Given the description of an element on the screen output the (x, y) to click on. 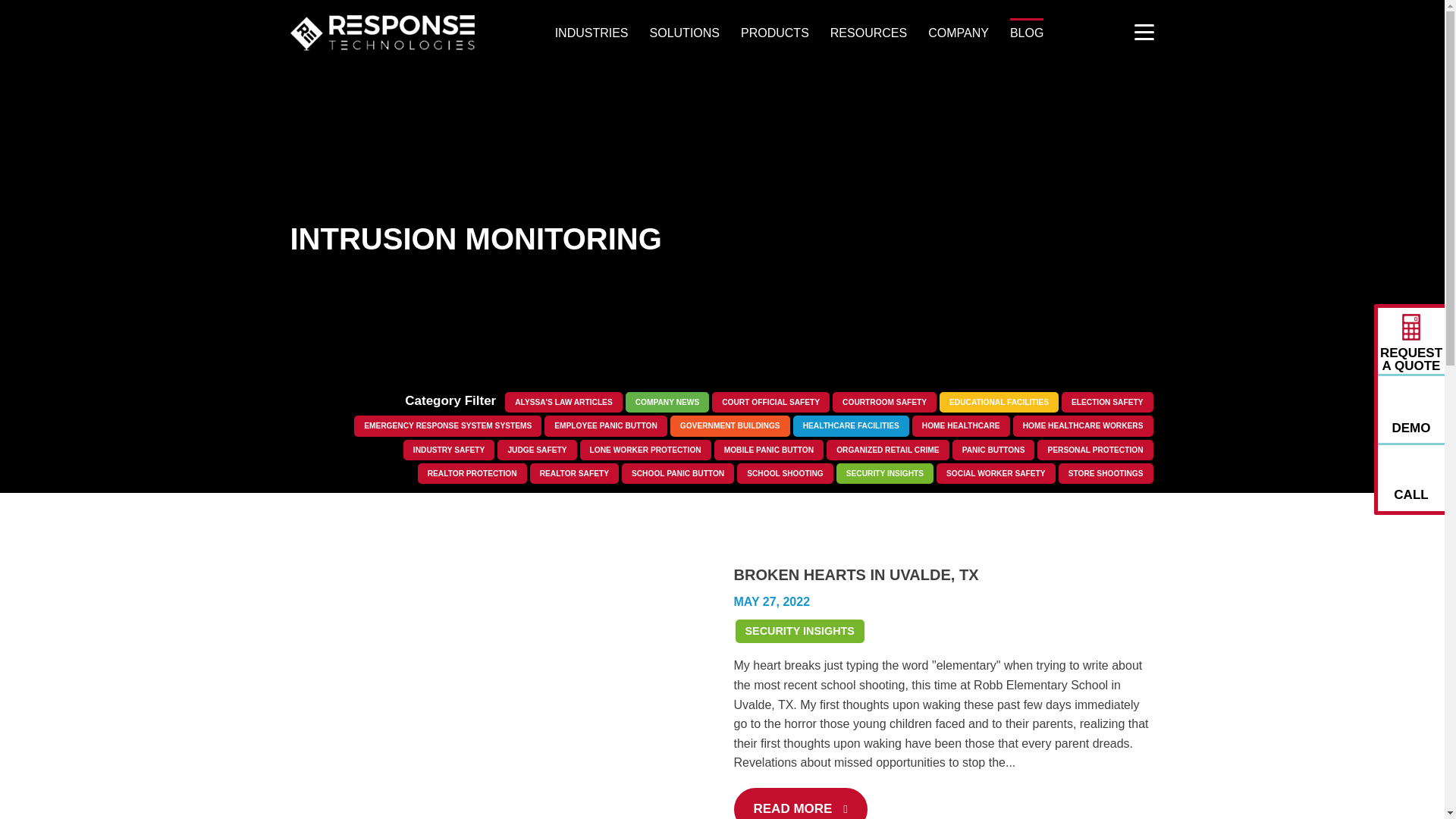
SOLUTIONS (684, 32)
INDUSTRIES (591, 32)
COMPANY (958, 32)
PRODUCTS (775, 32)
RESOURCES (868, 32)
